Given the description of an element on the screen output the (x, y) to click on. 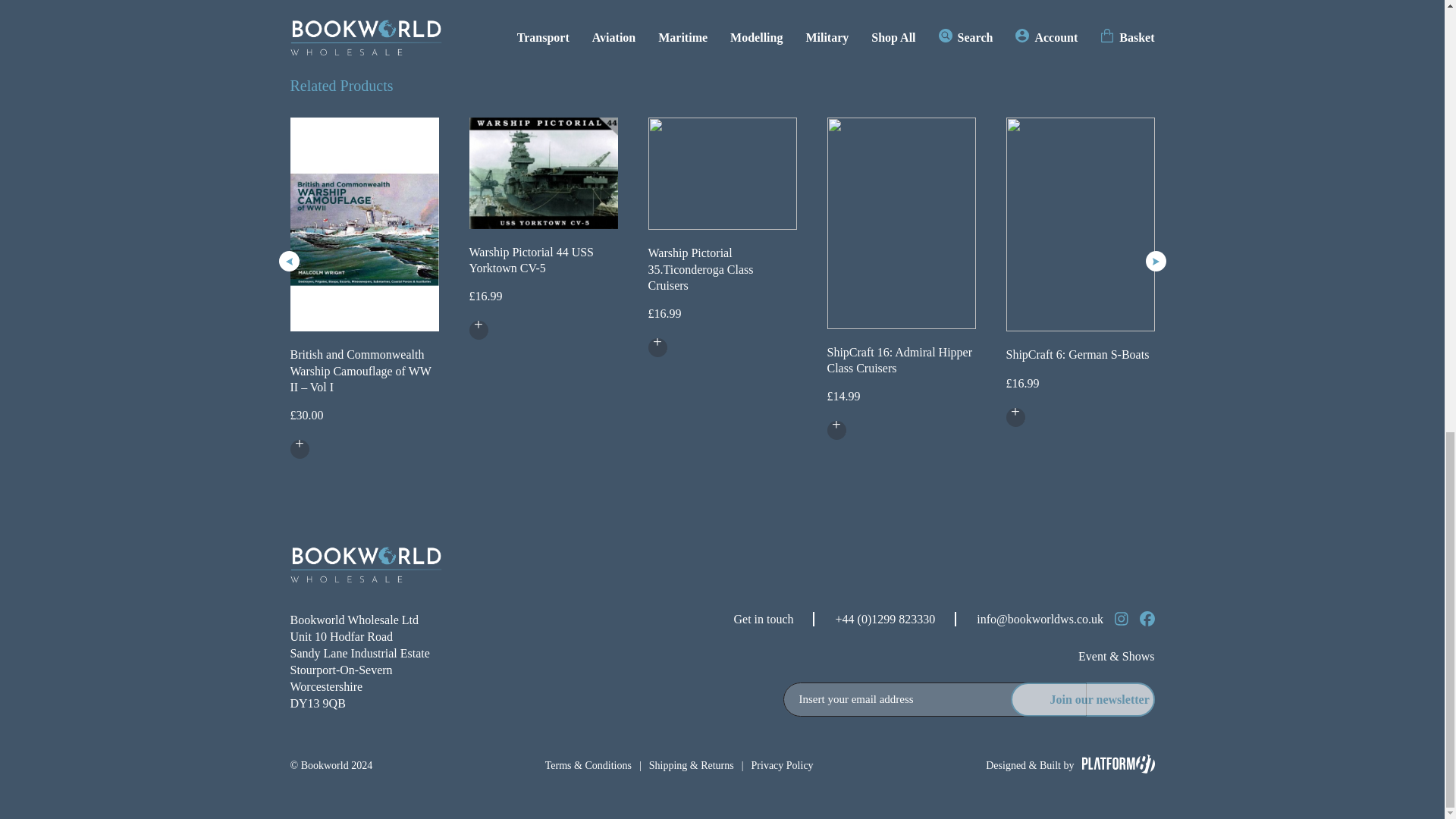
Join our newsletter (1082, 699)
